Given the description of an element on the screen output the (x, y) to click on. 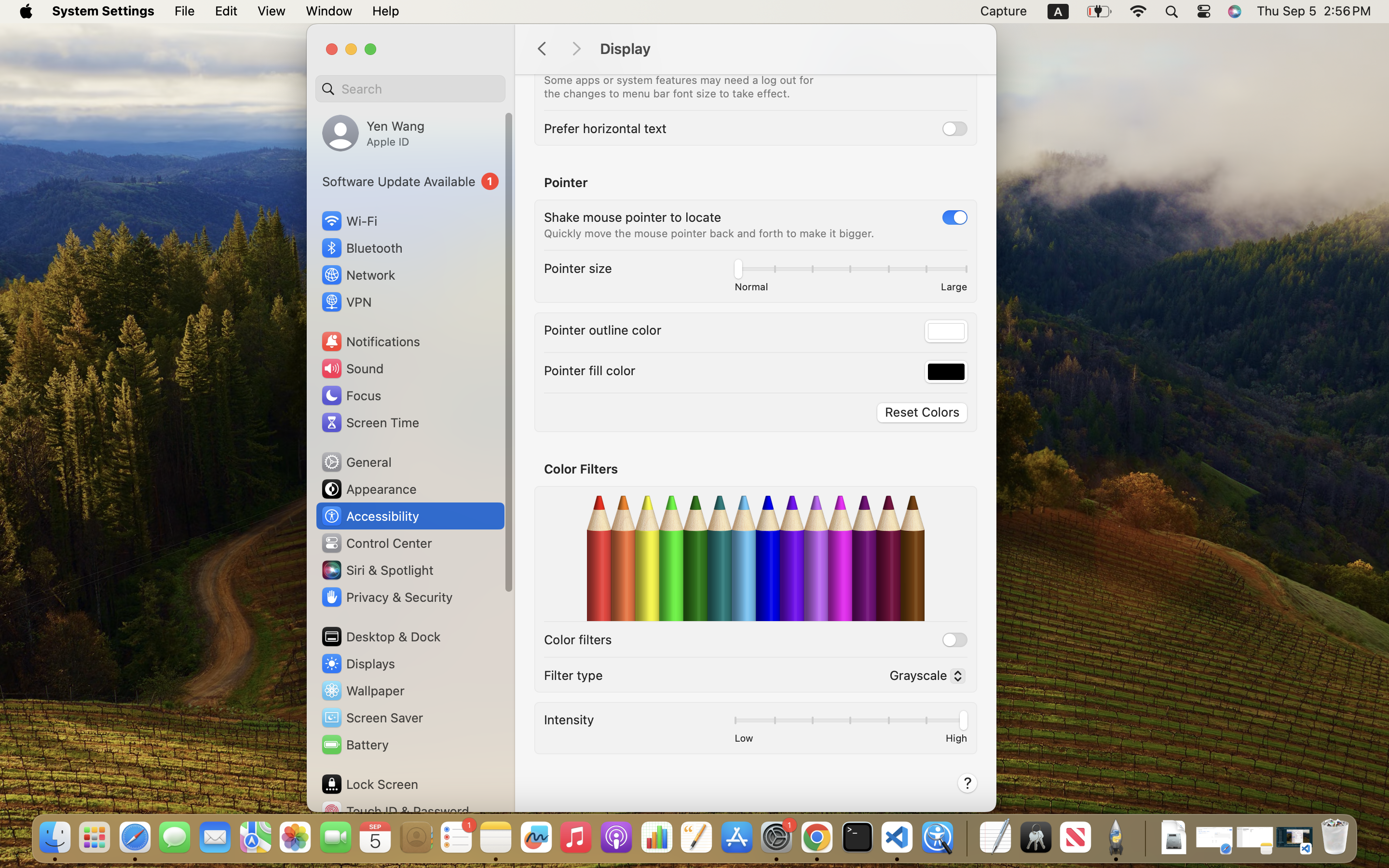
Control Center Element type: AXStaticText (376, 542)
Bluetooth Element type: AXStaticText (361, 247)
Menu bar size Element type: AXStaticText (585, 63)
Shake mouse pointer to locate Element type: AXStaticText (632, 216)
